Given the description of an element on the screen output the (x, y) to click on. 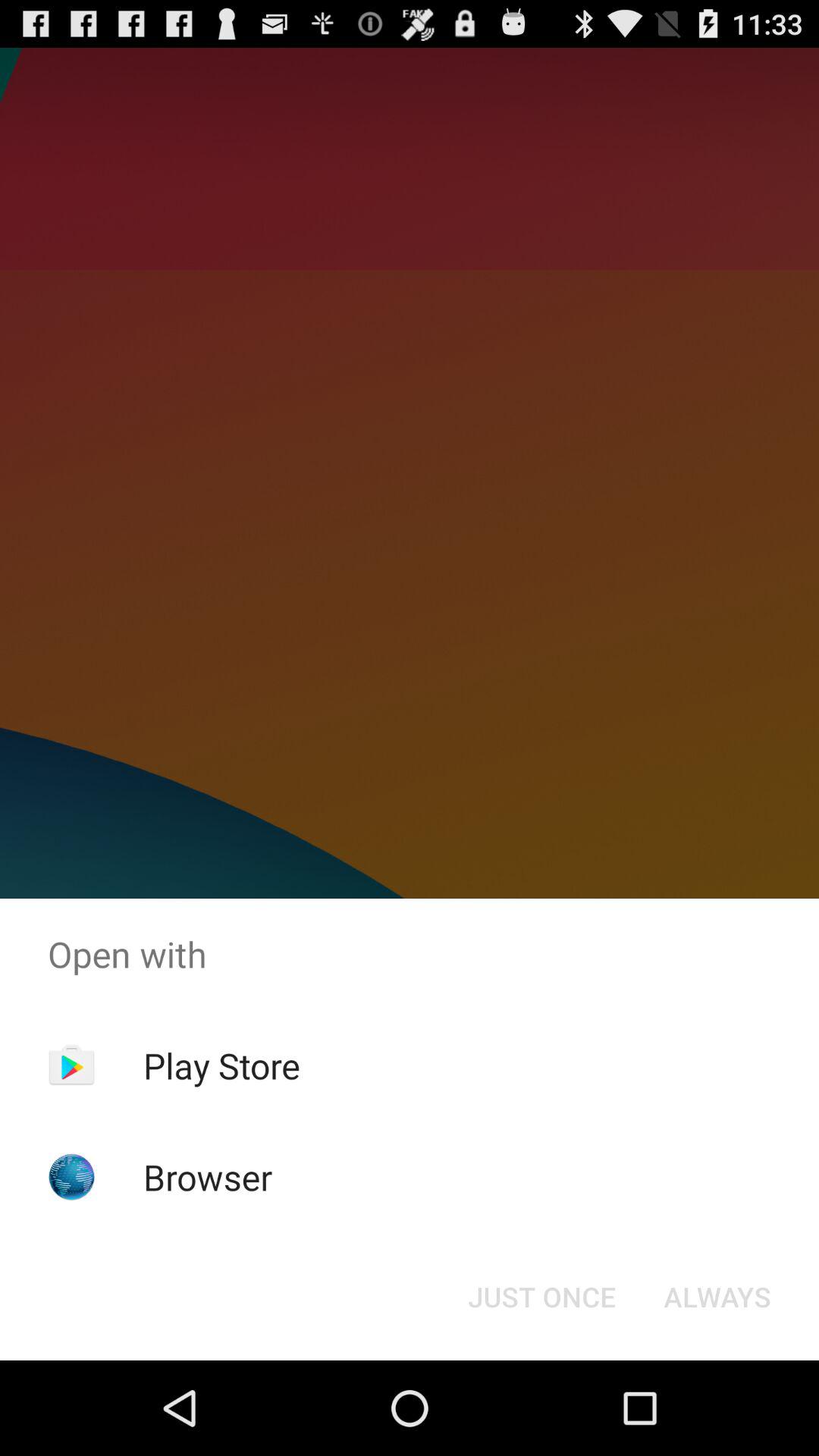
turn off the just once (541, 1296)
